Given the description of an element on the screen output the (x, y) to click on. 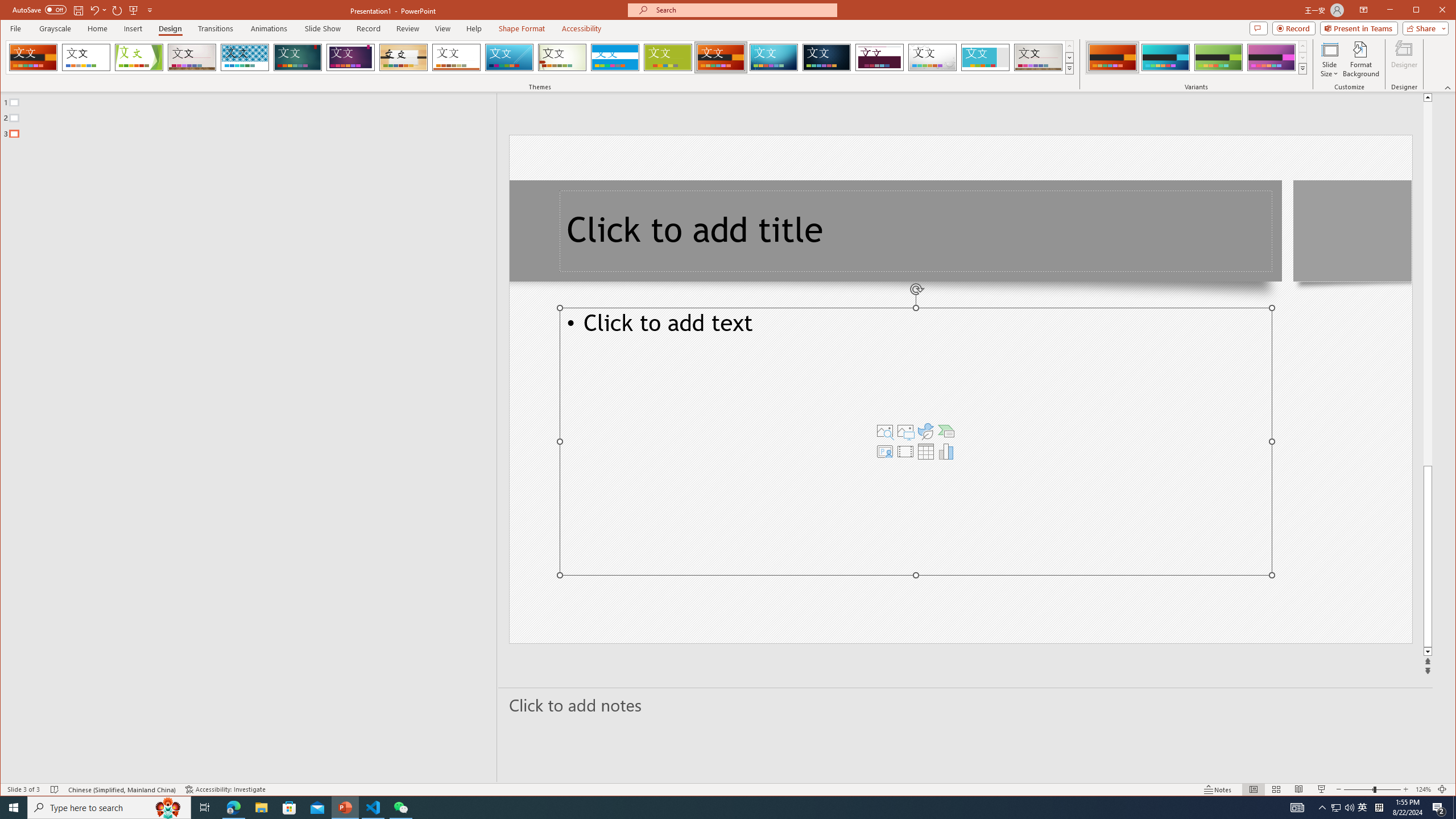
Dividend (879, 57)
AutomationID: SlideThemesGallery (540, 57)
Stock Images (884, 430)
Ion (297, 57)
Slide Size (1328, 59)
Shape Format (521, 28)
